Given the description of an element on the screen output the (x, y) to click on. 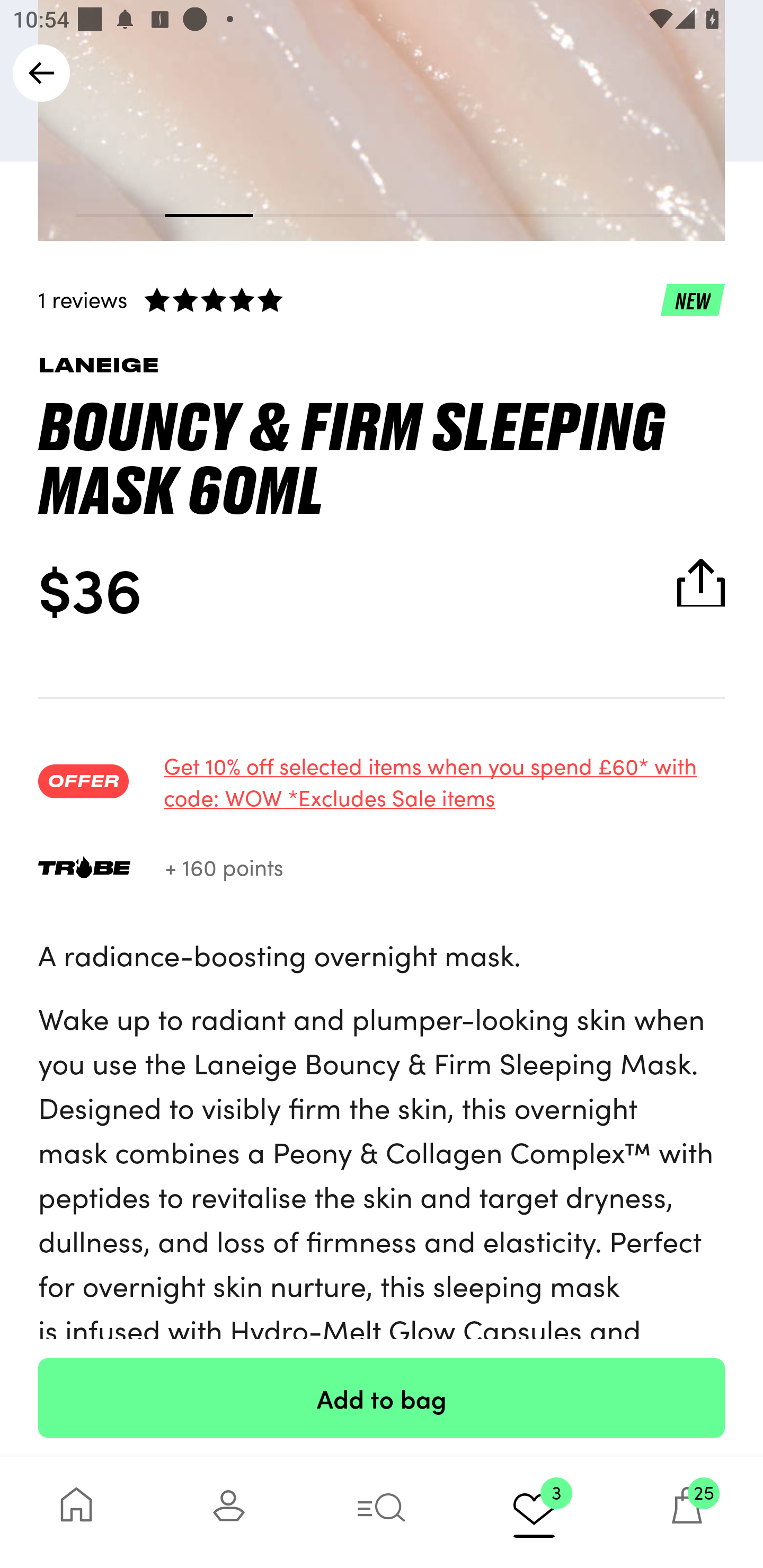
1 reviews (381, 298)
Add to bag (381, 1397)
3 (533, 1512)
25 (686, 1512)
